Given the description of an element on the screen output the (x, y) to click on. 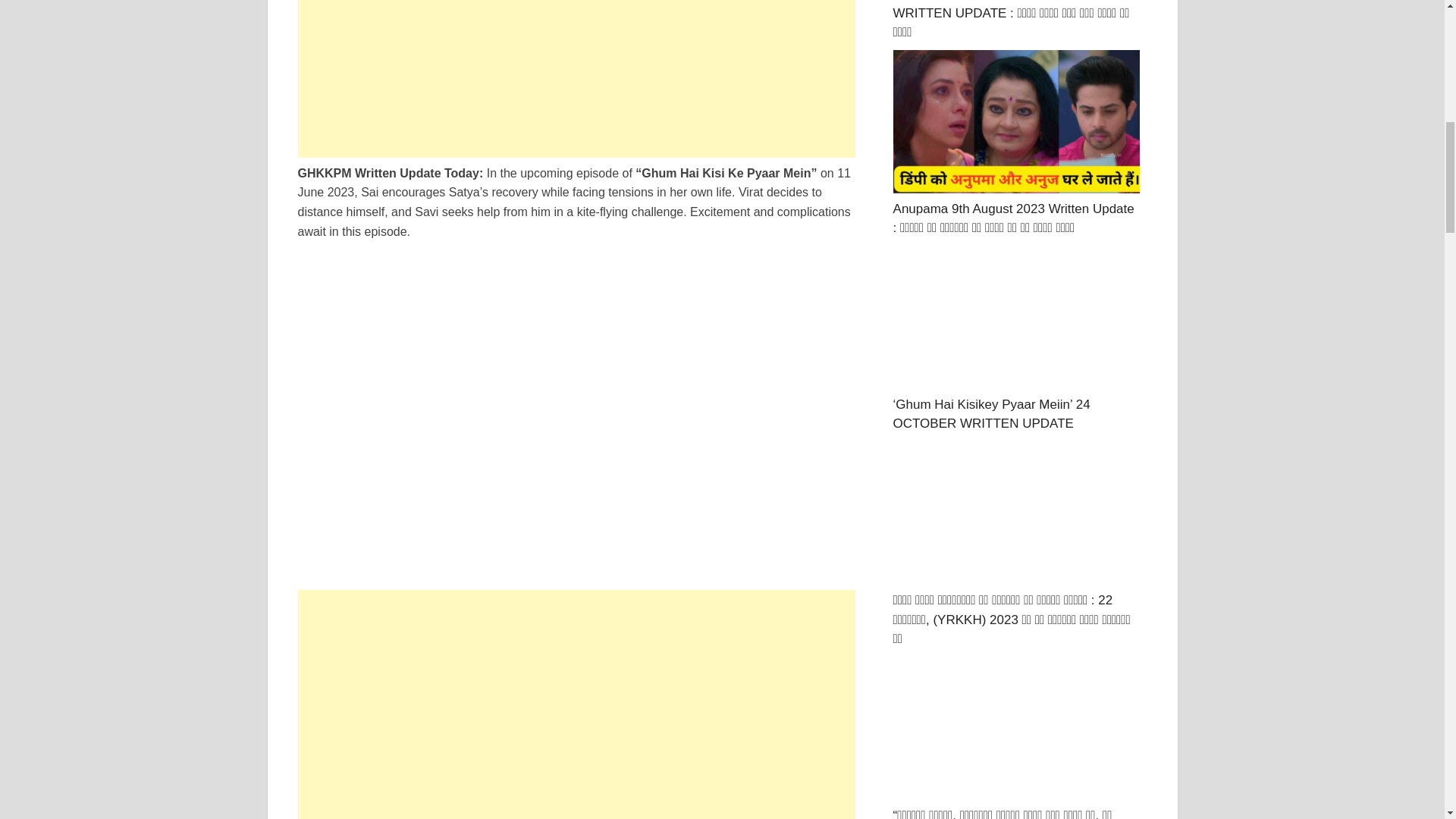
Advertisement (575, 810)
Advertisement (575, 79)
Advertisement (575, 695)
